Given the description of an element on the screen output the (x, y) to click on. 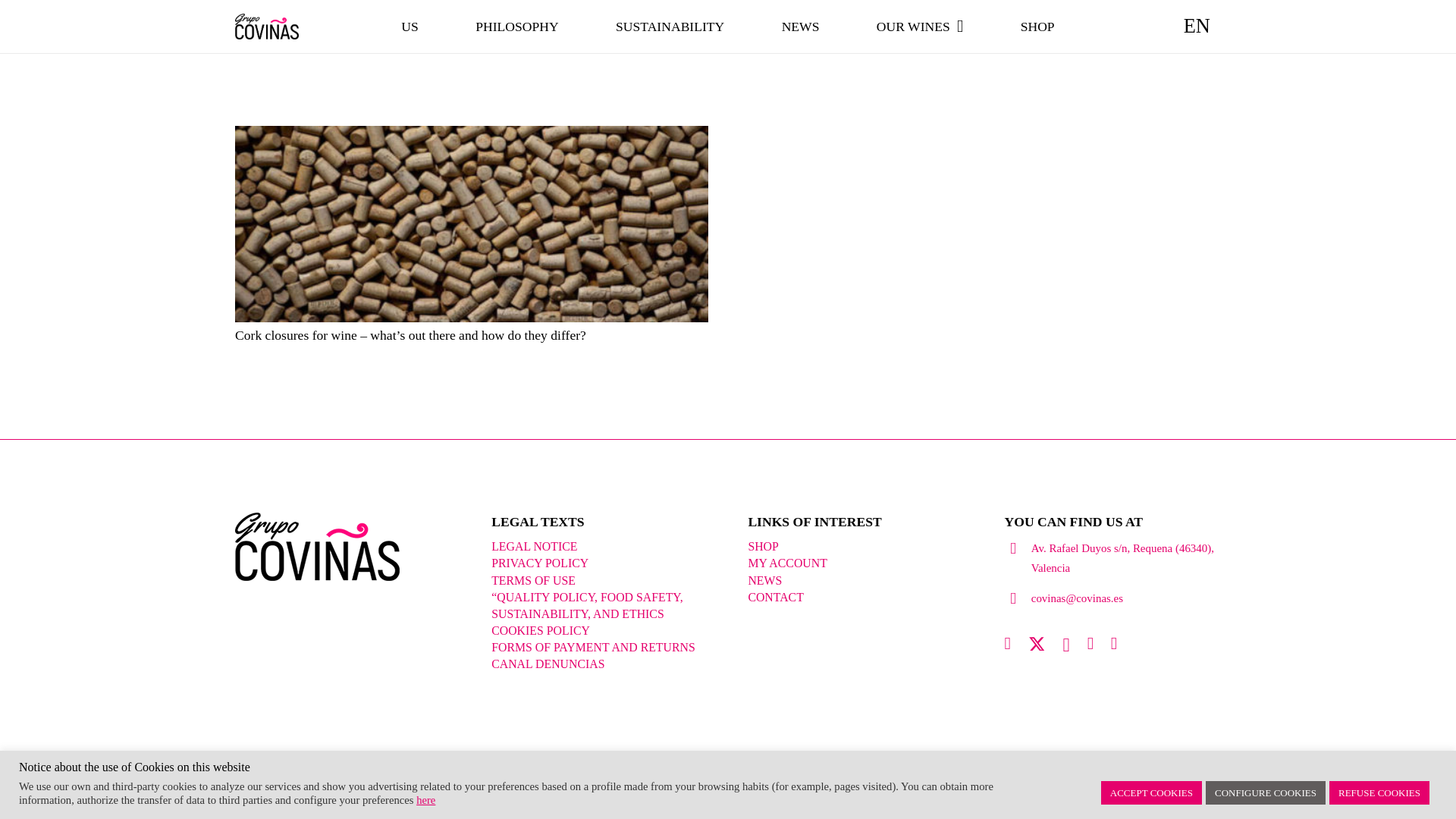
MY ACCOUNT (787, 562)
here (425, 799)
PRIVACY POLICY (540, 562)
NEWS (764, 580)
SHOP (762, 545)
CANAL DENUNCIAS (548, 663)
NEWS (800, 26)
PHILOSOPHY (516, 26)
US (409, 26)
OUR WINES (919, 26)
EN (1197, 26)
Developed by QuatreSoft (418, 782)
TERMS OF USE (533, 580)
SHOP (1037, 26)
COOKIES POLICY (540, 630)
